Given the description of an element on the screen output the (x, y) to click on. 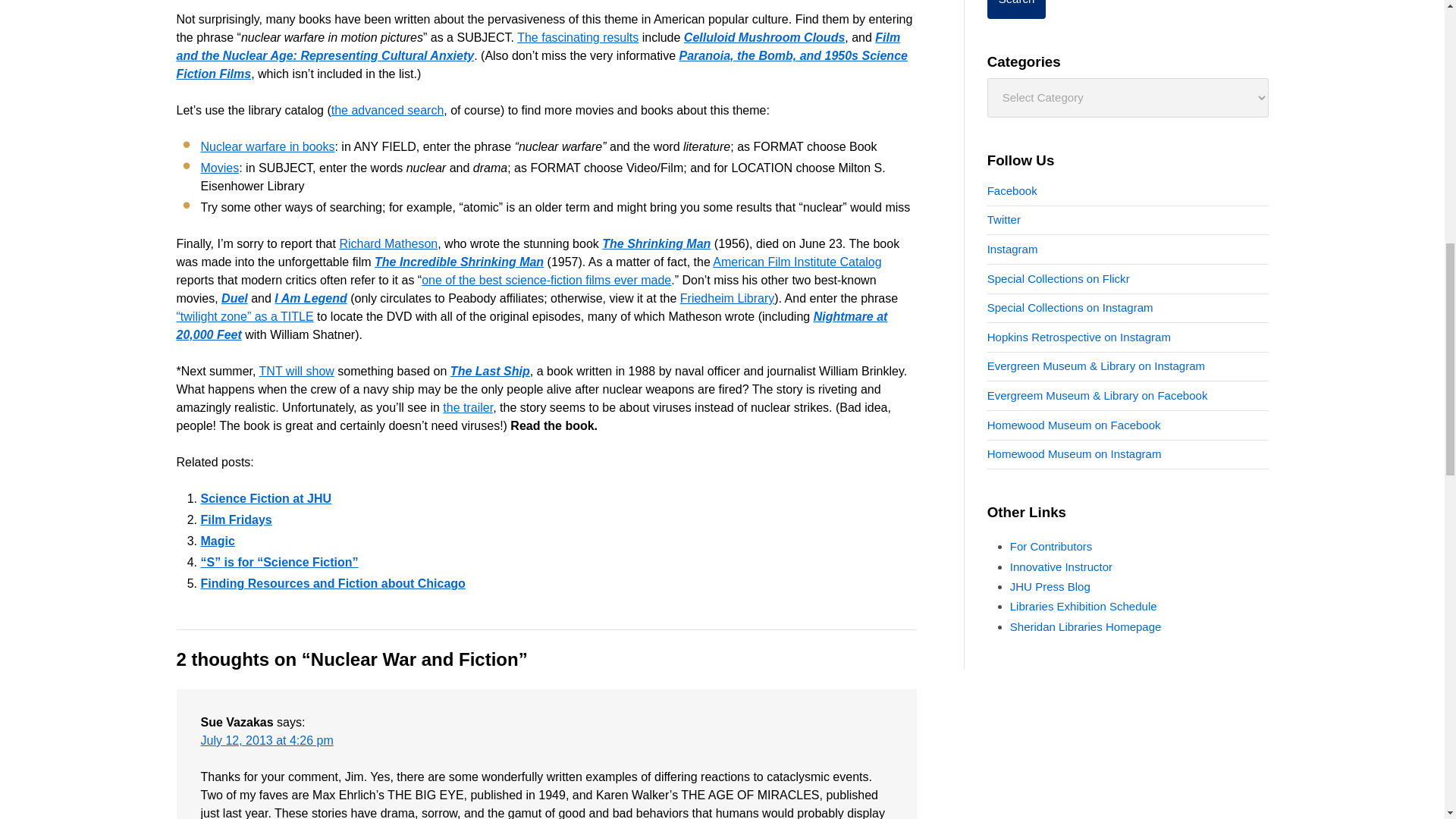
Paranoia, the Bomb, and 1950s Science Fiction Films (541, 64)
one of the best science-fiction films ever made (546, 279)
Film Fridays (235, 519)
Magic (217, 540)
Science Fiction at JHU (265, 498)
Nuclear warfare in books (267, 146)
Search (1016, 9)
The fascinating results (577, 37)
Friedheim Library (726, 297)
Finding Resources and Fiction about Chicago (332, 583)
